Given the description of an element on the screen output the (x, y) to click on. 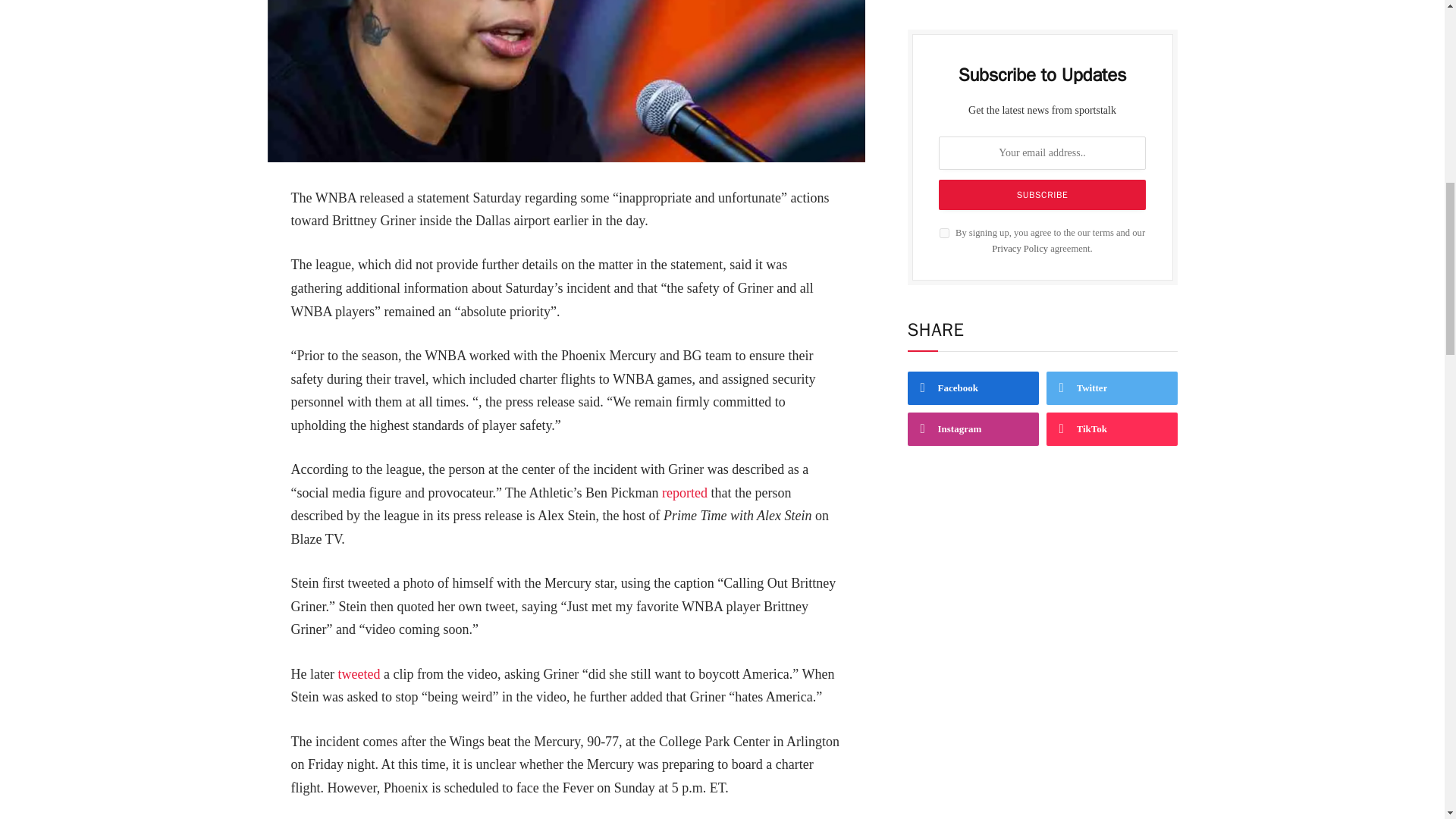
on (944, 232)
Subscribe (1043, 194)
